Given the description of an element on the screen output the (x, y) to click on. 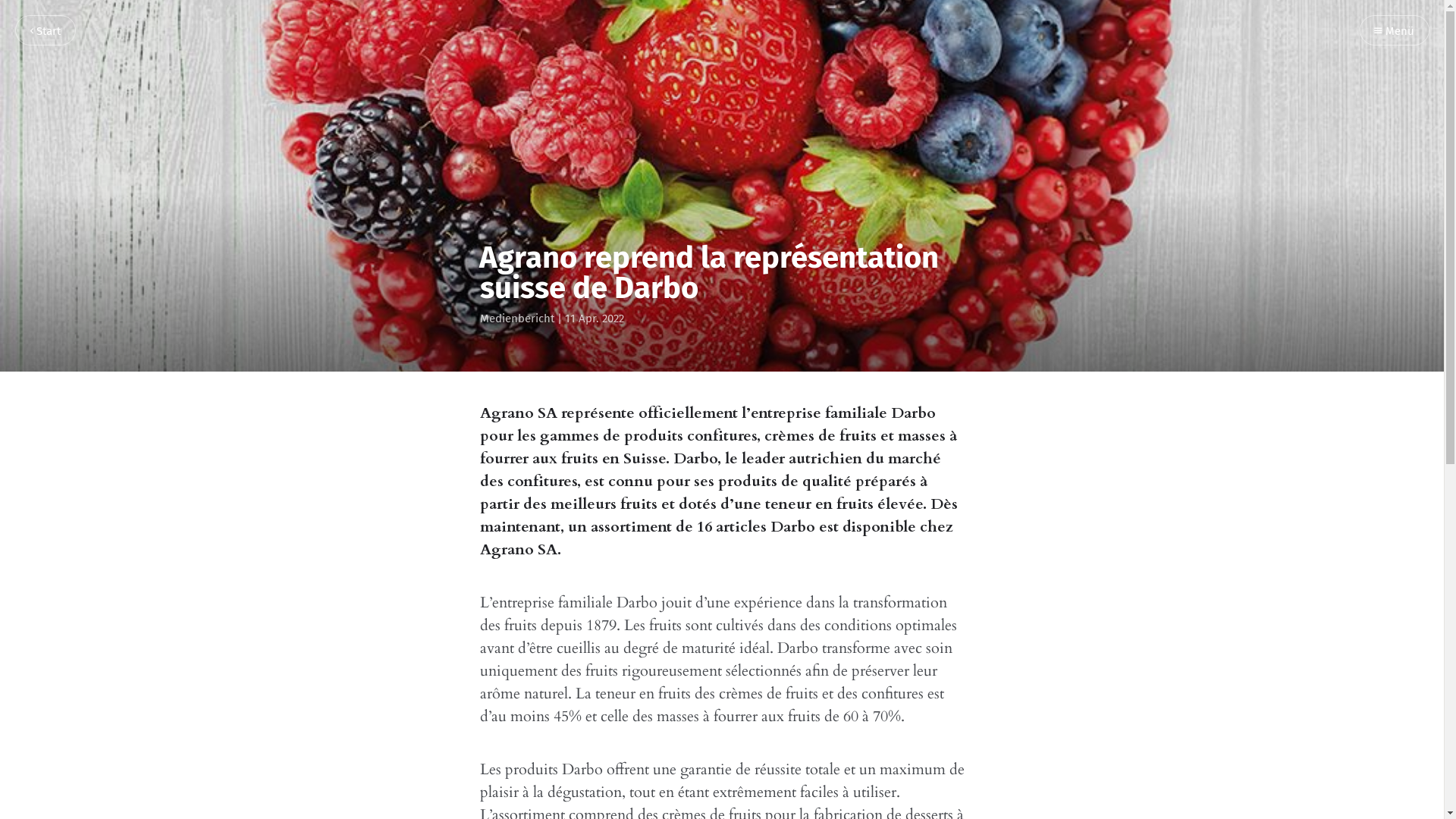
Start Element type: text (45, 30)
Medienbericht Element type: text (516, 318)
